Given the description of an element on the screen output the (x, y) to click on. 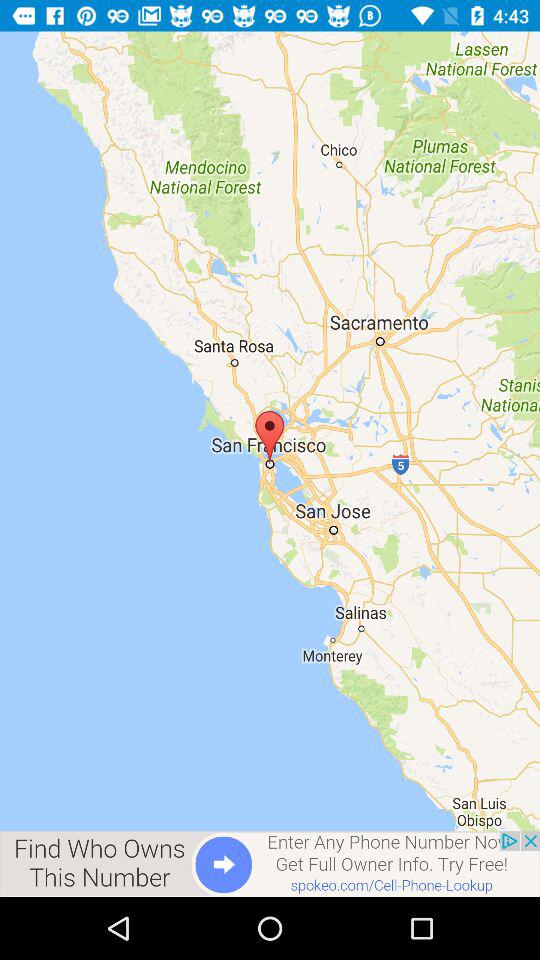
view advertisement (270, 864)
